Given the description of an element on the screen output the (x, y) to click on. 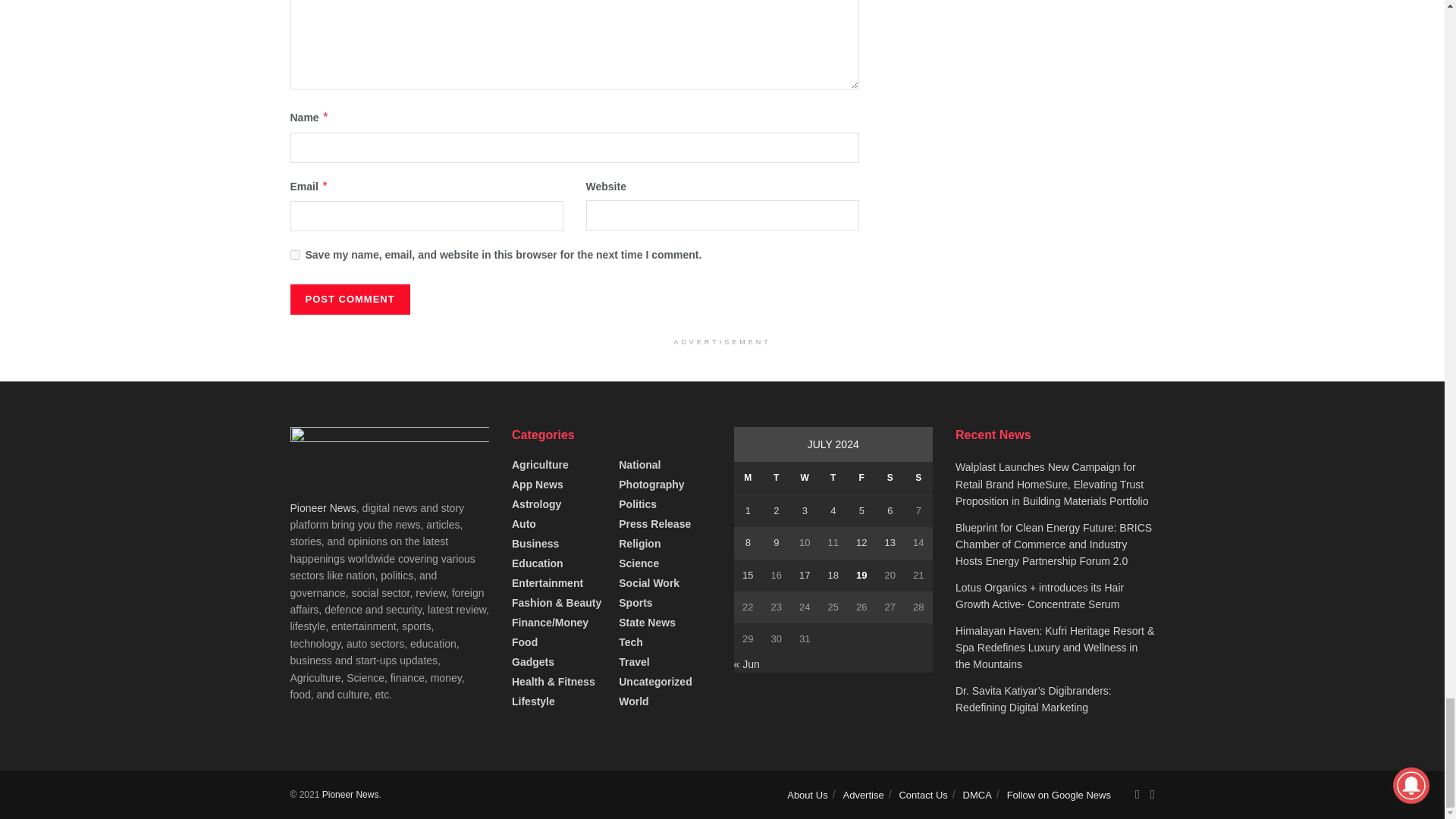
yes (294, 255)
Pioneer News (349, 794)
Friday (861, 477)
Sunday (918, 477)
Wednesday (804, 477)
Monday (747, 477)
Thursday (832, 477)
Saturday (890, 477)
Post Comment (349, 299)
Tuesday (775, 477)
